Given the description of an element on the screen output the (x, y) to click on. 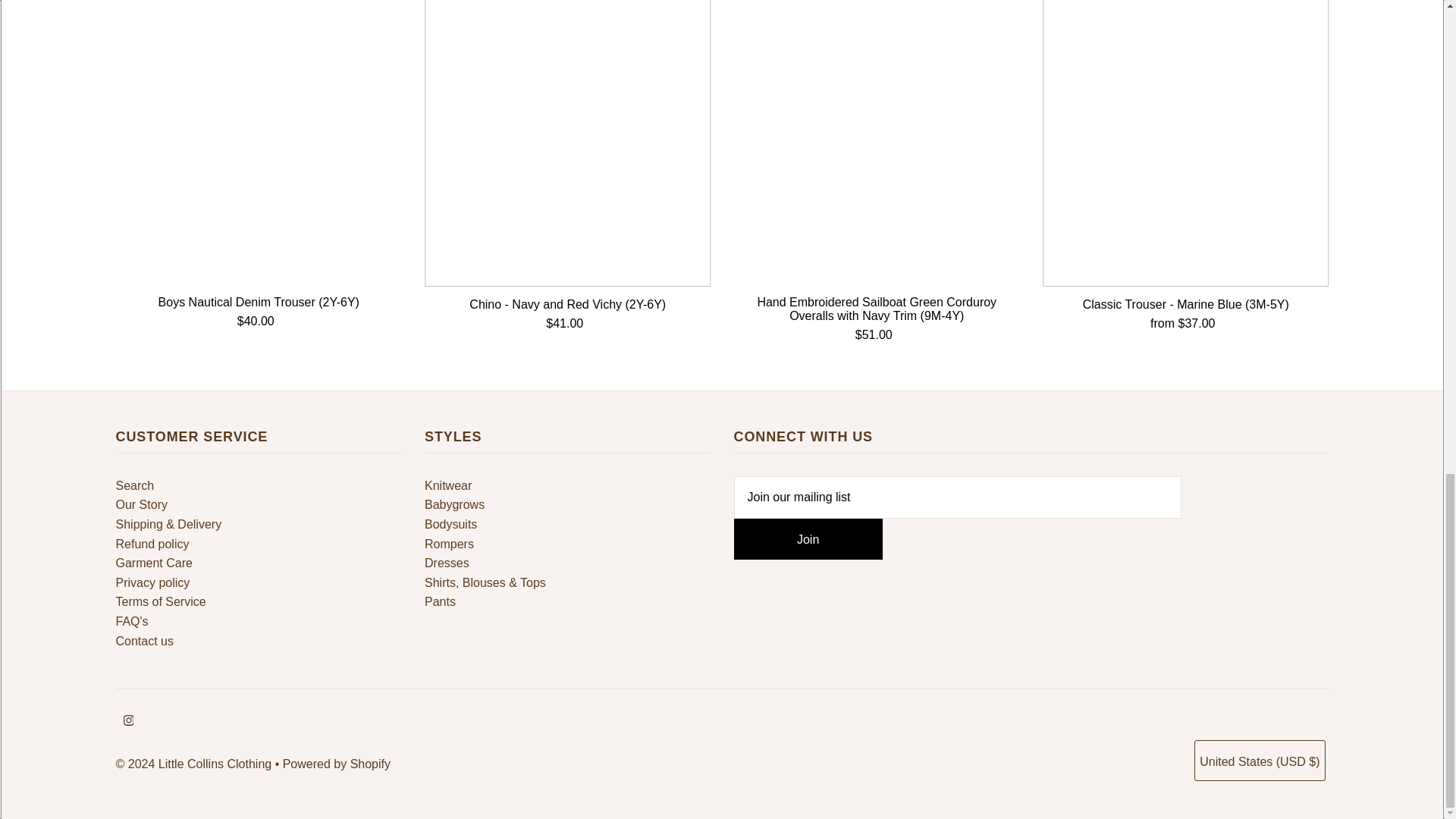
Join (807, 538)
